Given the description of an element on the screen output the (x, y) to click on. 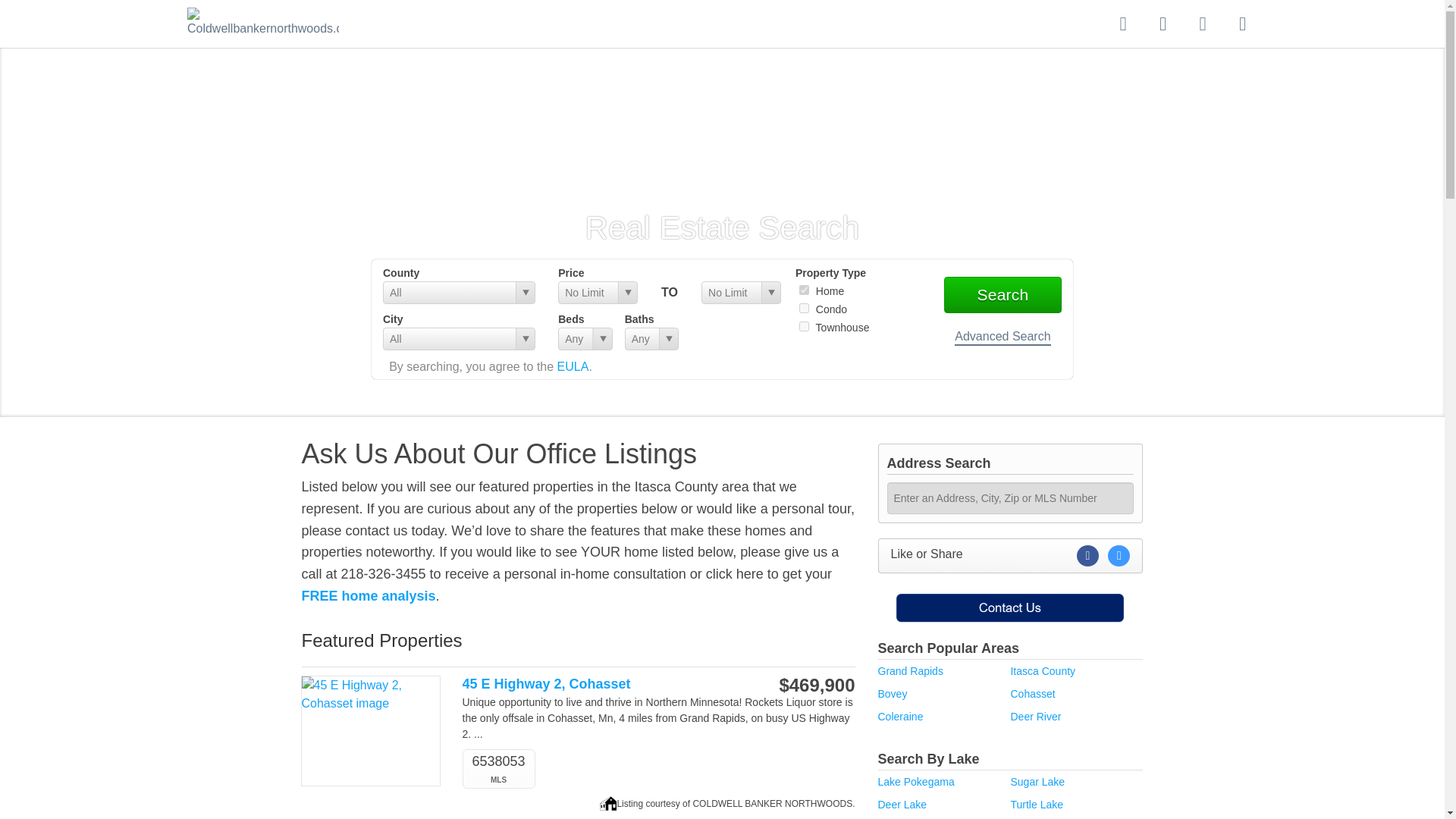
res (804, 289)
EULA (573, 366)
FREE home analysis (368, 595)
twn (804, 326)
con (804, 307)
Coldwellbankernorthwoods.com (263, 23)
Search (1002, 294)
45 E Highway 2, Cohasset (600, 684)
FREE home analysis (368, 595)
Advanced Search (1002, 337)
